Given the description of an element on the screen output the (x, y) to click on. 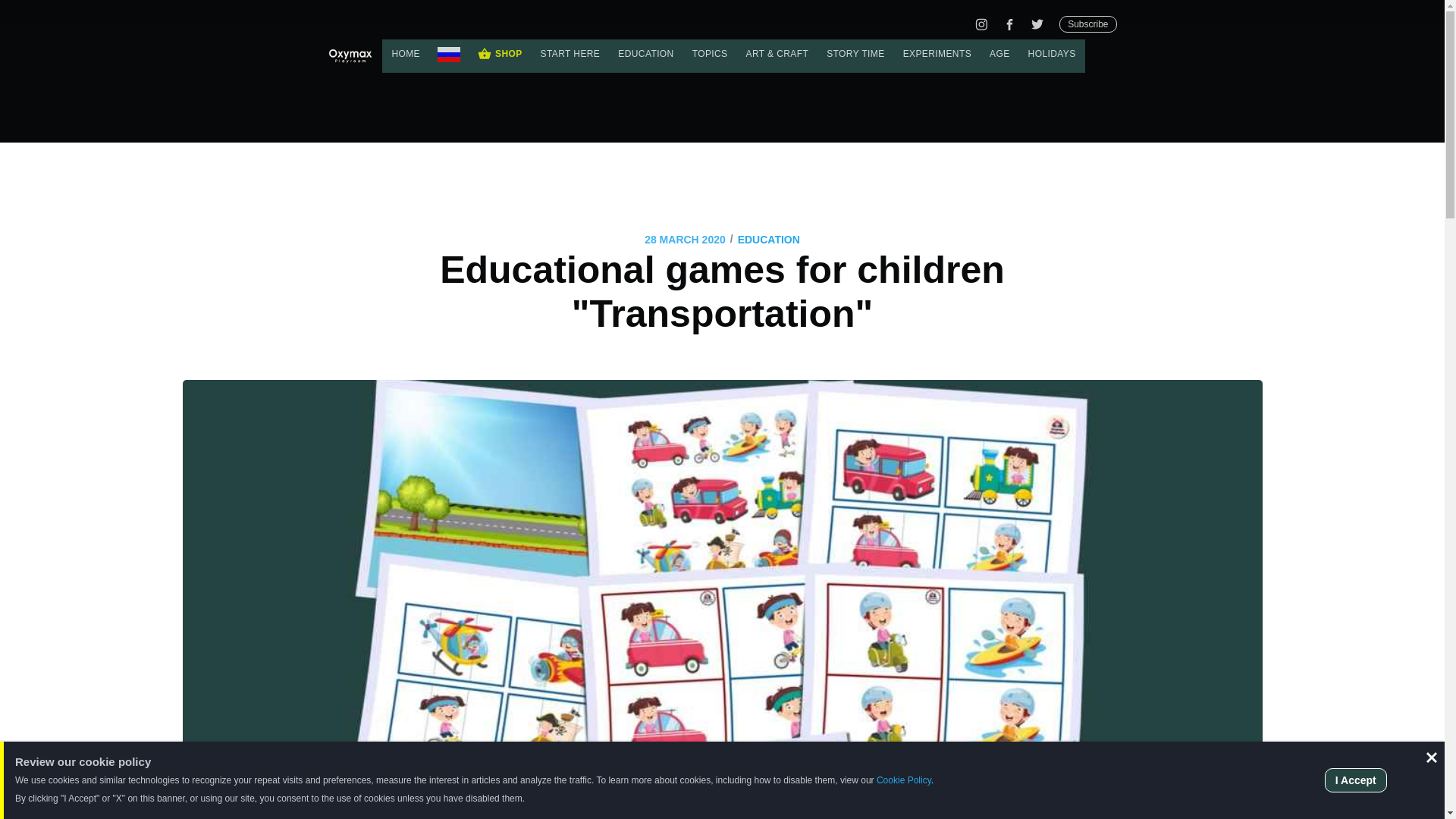
SHOP (499, 55)
START HERE (570, 53)
I Accept (1355, 780)
TOPICS (709, 53)
EDUCATION (645, 53)
Subscribe (1087, 23)
Cookie Policy (903, 779)
HOME (405, 53)
